Given the description of an element on the screen output the (x, y) to click on. 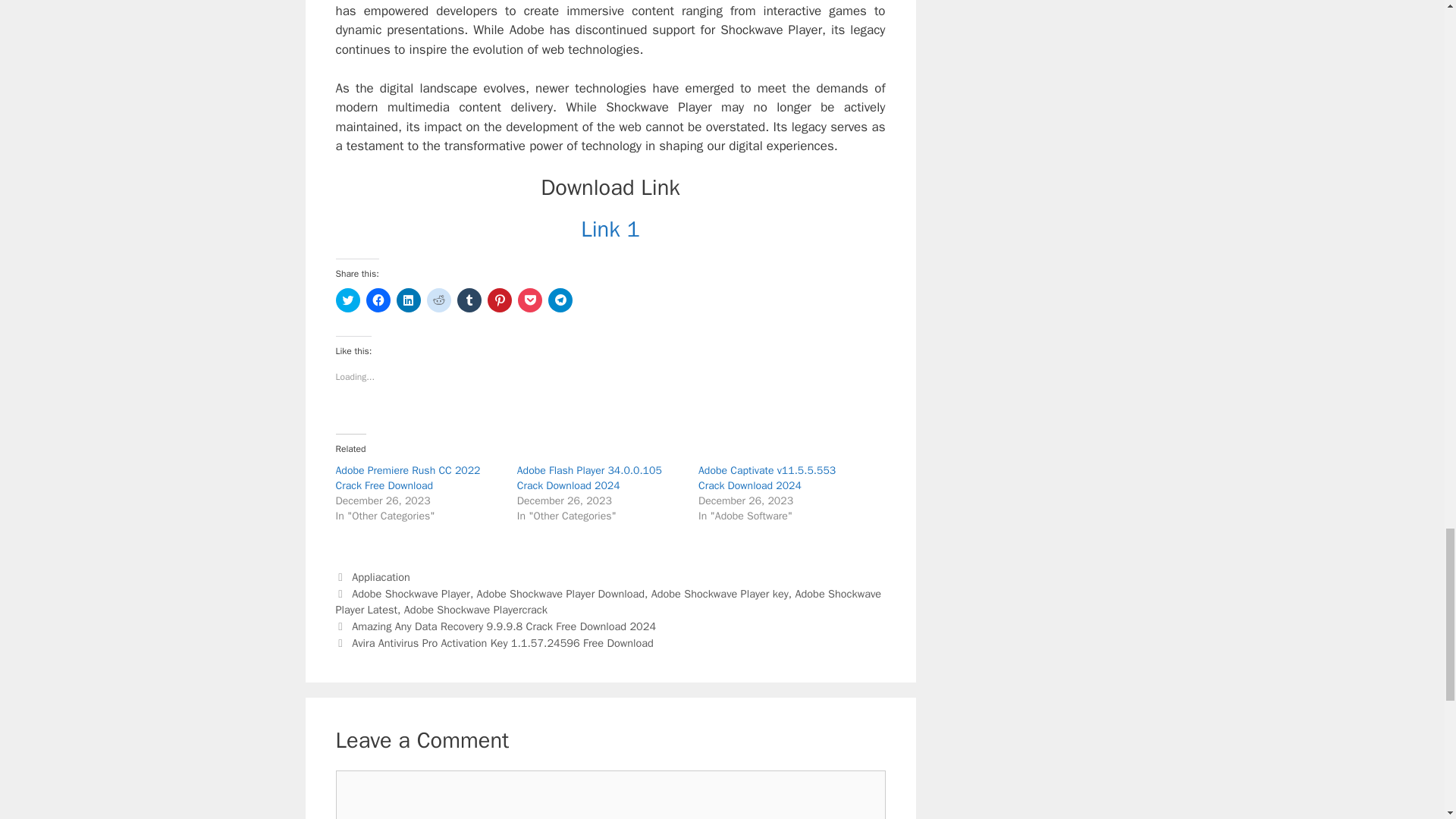
Click to share on Tumblr (468, 300)
Click to share on Pocket (528, 300)
Click to share on Telegram (559, 300)
Adobe Flash Player 34.0.0.105 Crack Download 2024 (589, 478)
Click to share on Twitter (346, 300)
Adobe Premiere Rush CC 2022 Crack Free Download (407, 478)
Adobe Captivate v11.5.5.553 Crack Download 2024 (766, 478)
Link 1 (610, 229)
Adobe Captivate v11.5.5.553 Crack Download 2024 (766, 478)
Adobe Flash Player 34.0.0.105 Crack Download 2024 (589, 478)
Click to share on Facebook (377, 300)
Click to share on Reddit (437, 300)
Click to share on LinkedIn (408, 300)
Click to share on Pinterest (498, 300)
Adobe Premiere Rush CC 2022 Crack Free Download (407, 478)
